Given the description of an element on the screen output the (x, y) to click on. 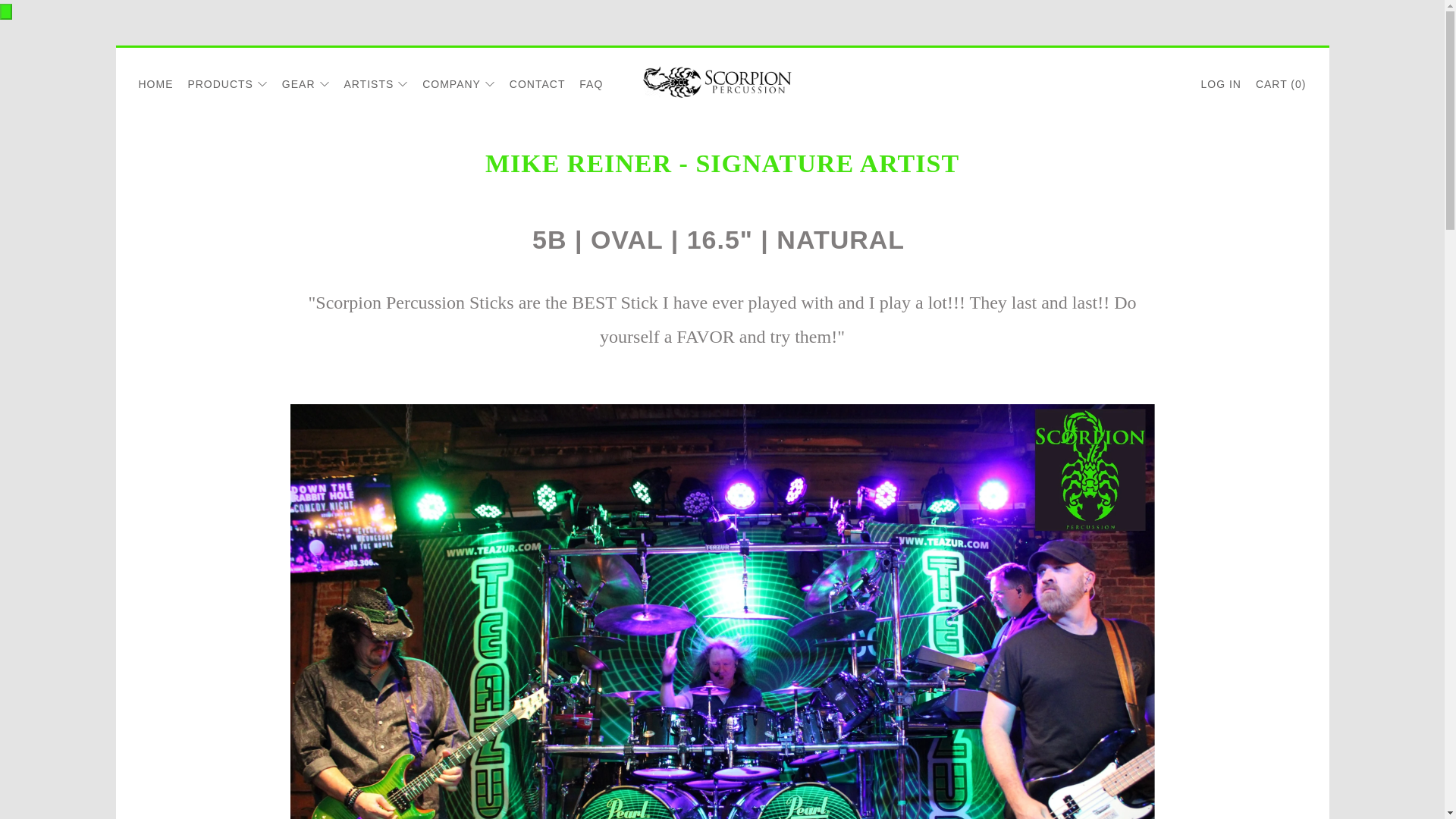
PRODUCTS (227, 83)
HOME (155, 83)
